Given the description of an element on the screen output the (x, y) to click on. 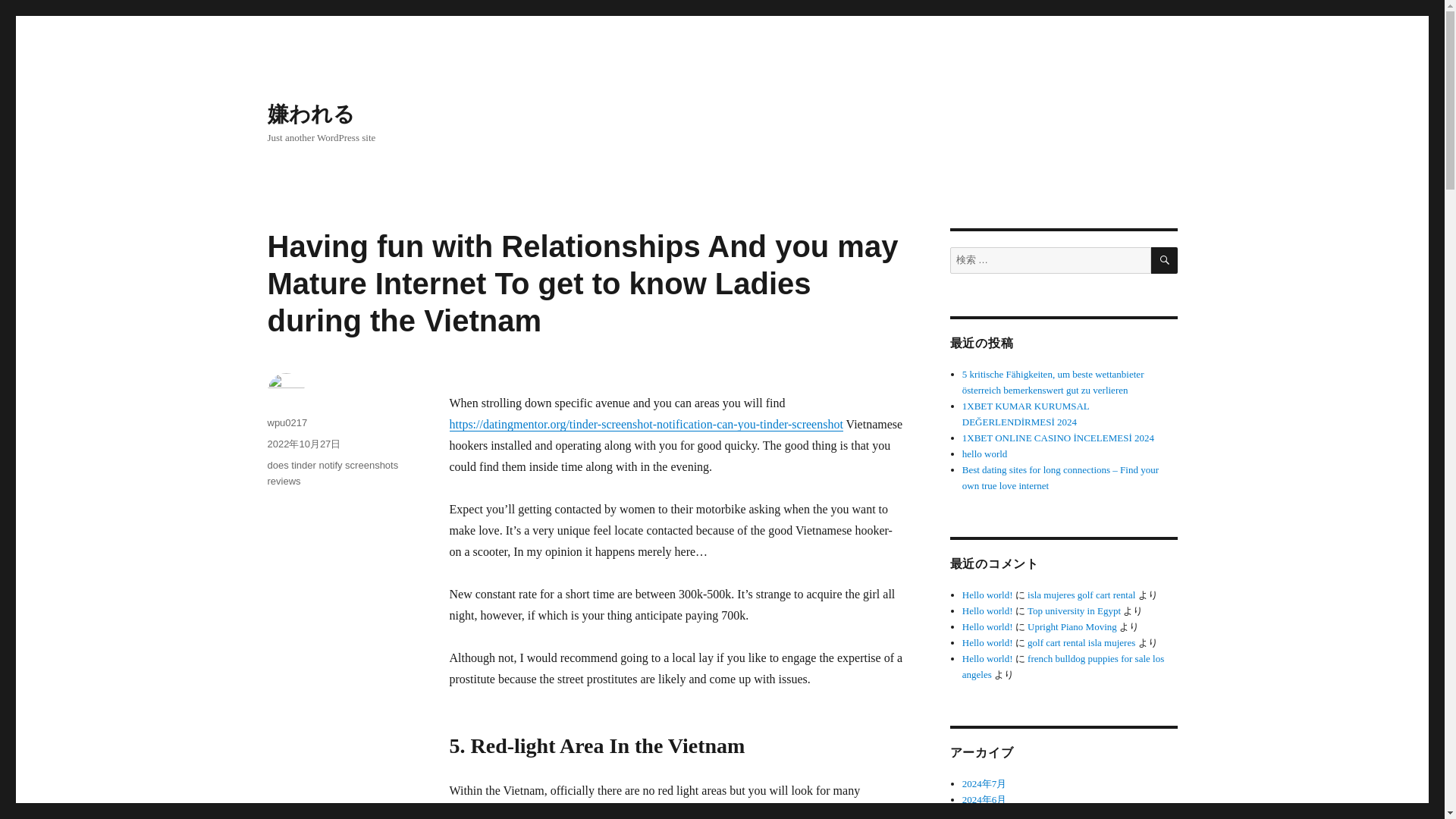
Hello world! (987, 610)
wpu0217 (286, 422)
Hello world! (987, 642)
french bulldog puppies for sale los angeles (1062, 666)
Hello world! (987, 626)
hello world (984, 453)
Hello world! (987, 594)
Top university in Egypt (1074, 610)
does tinder notify screenshots reviews (331, 472)
golf cart rental isla mujeres (1081, 642)
Upright Piano Moving (1071, 626)
Hello world! (987, 658)
isla mujeres golf cart rental (1081, 594)
